Given the description of an element on the screen output the (x, y) to click on. 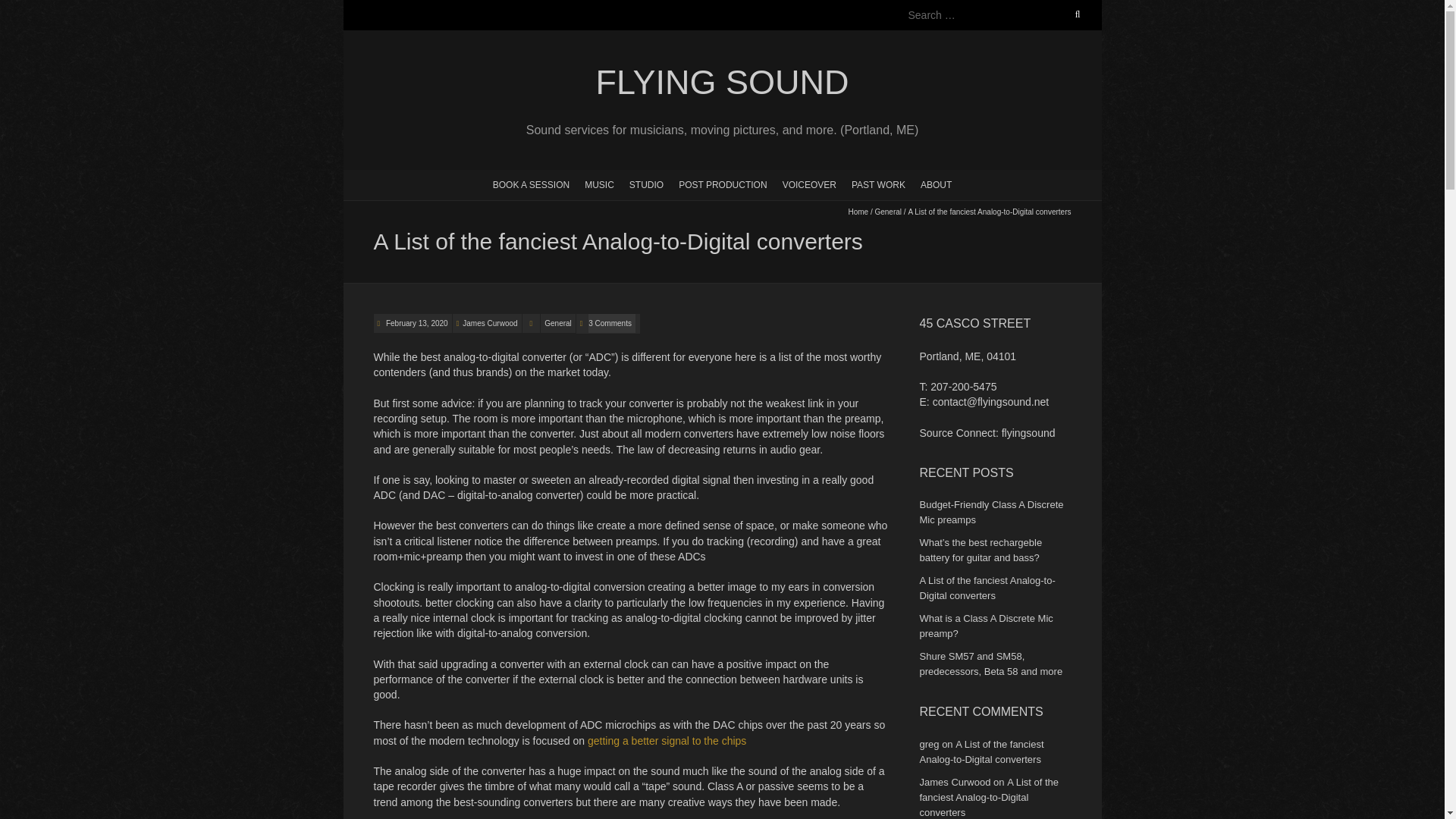
View all posts by James Curwood (489, 323)
February 13, 2020 (416, 323)
Flying Sound (721, 82)
Category (531, 322)
MUSIC (598, 184)
General (888, 212)
STUDIO (646, 184)
3 Comments (612, 323)
General (557, 322)
ABOUT (935, 184)
